Given the description of an element on the screen output the (x, y) to click on. 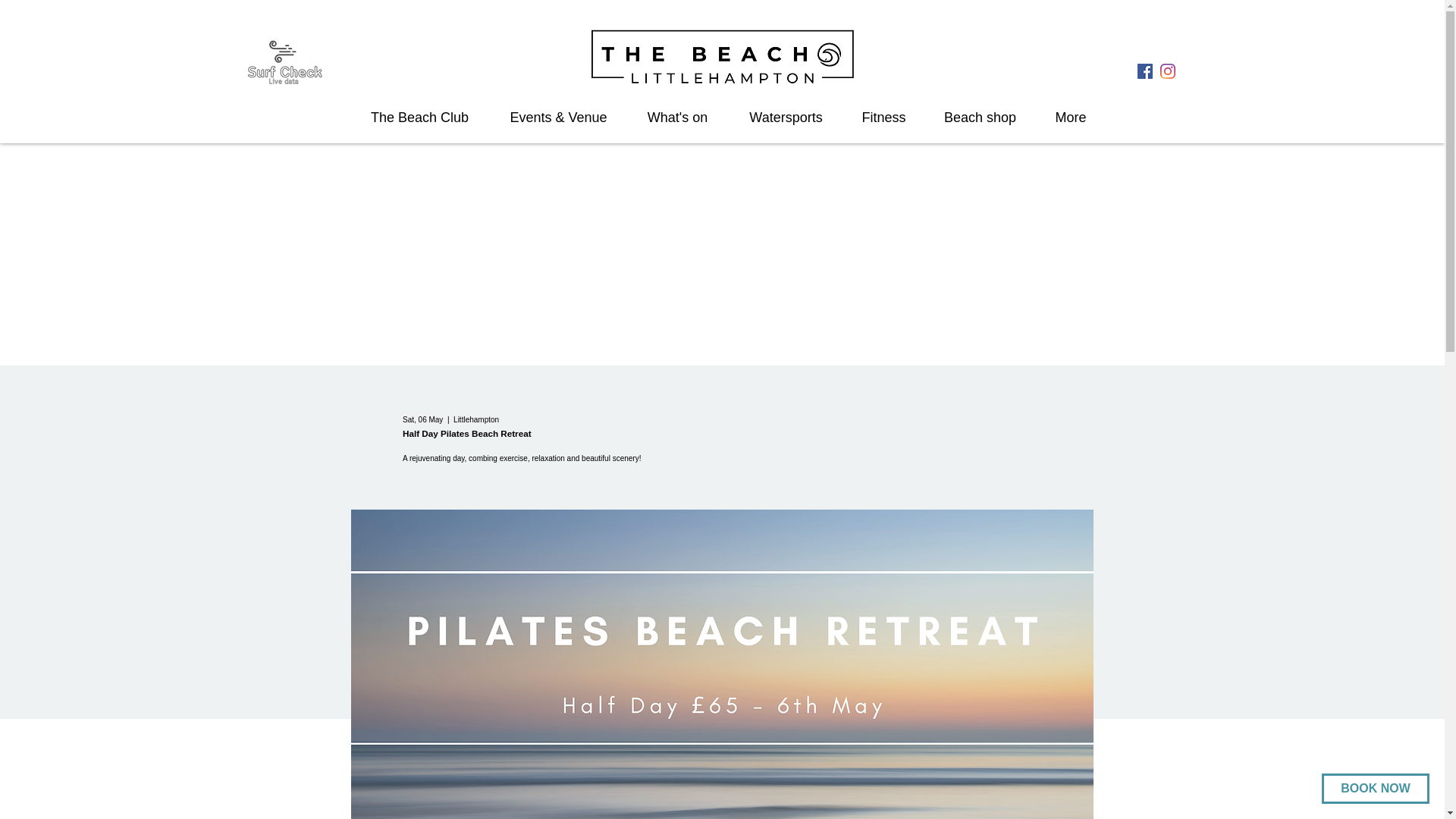
The Beach Club (419, 117)
Watersports (786, 117)
Fitness (883, 117)
Beach shop (979, 117)
What's on (677, 117)
